Given the description of an element on the screen output the (x, y) to click on. 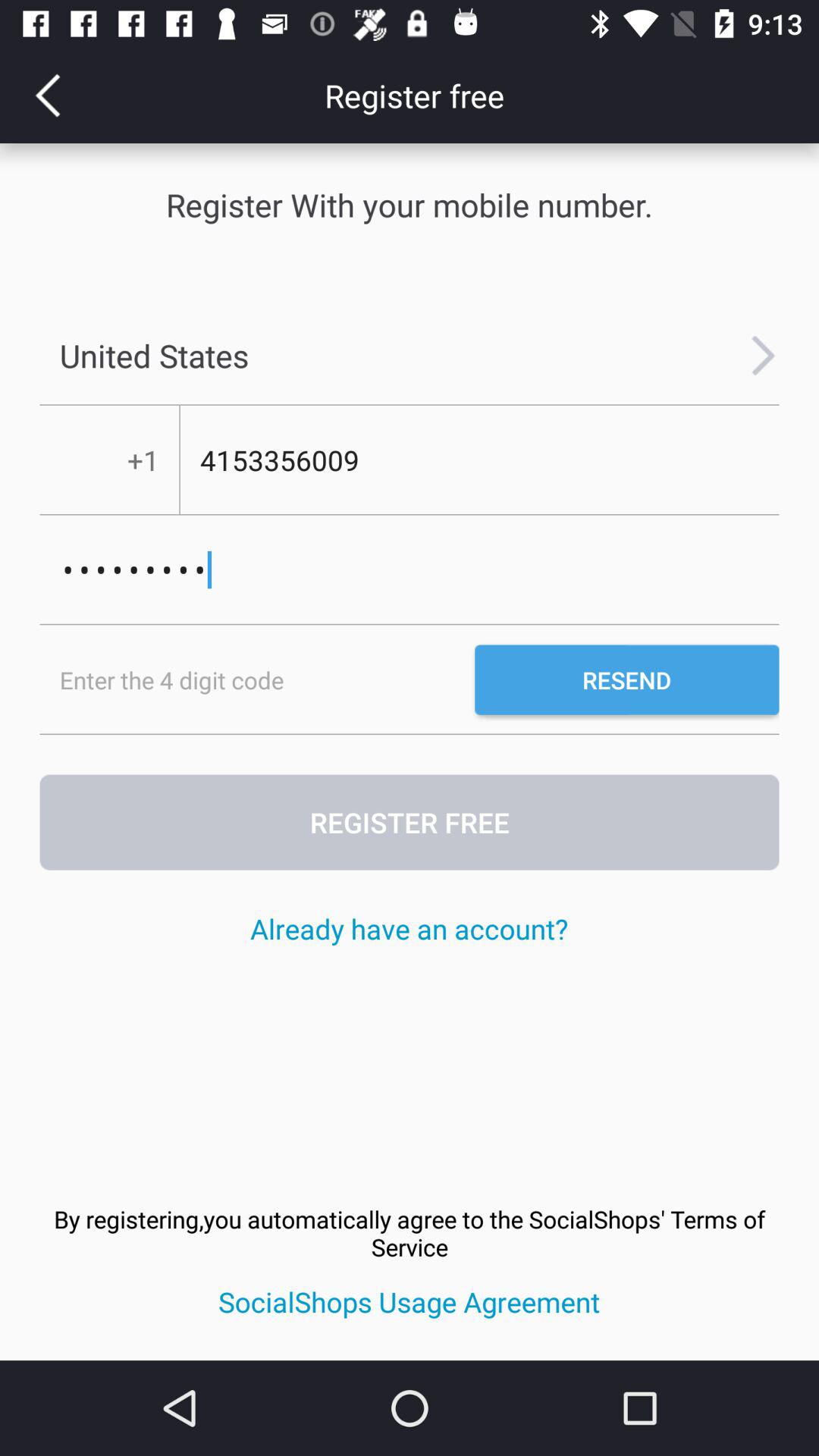
flip to resend (626, 679)
